Given the description of an element on the screen output the (x, y) to click on. 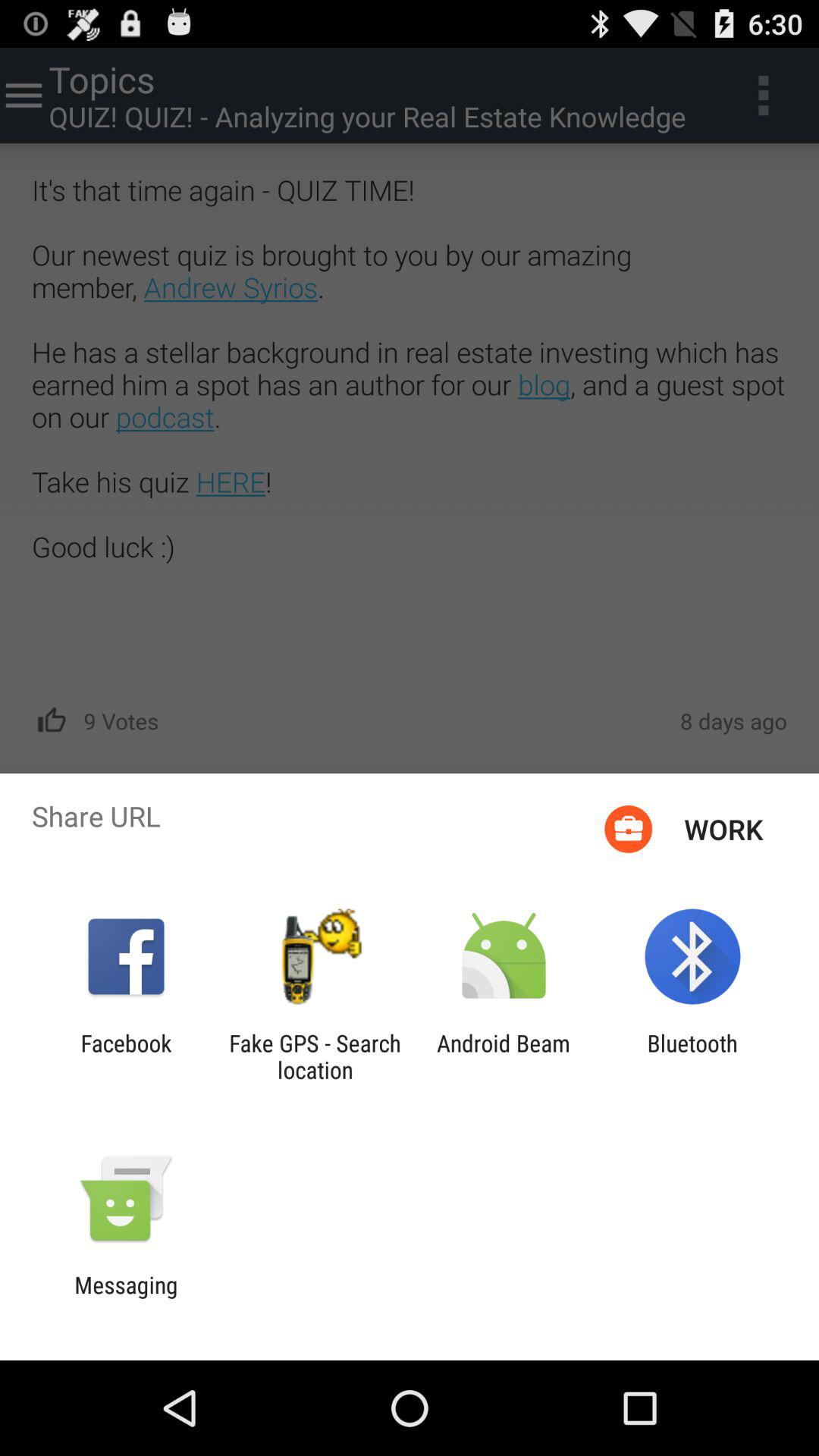
press the app next to the android beam app (692, 1056)
